Given the description of an element on the screen output the (x, y) to click on. 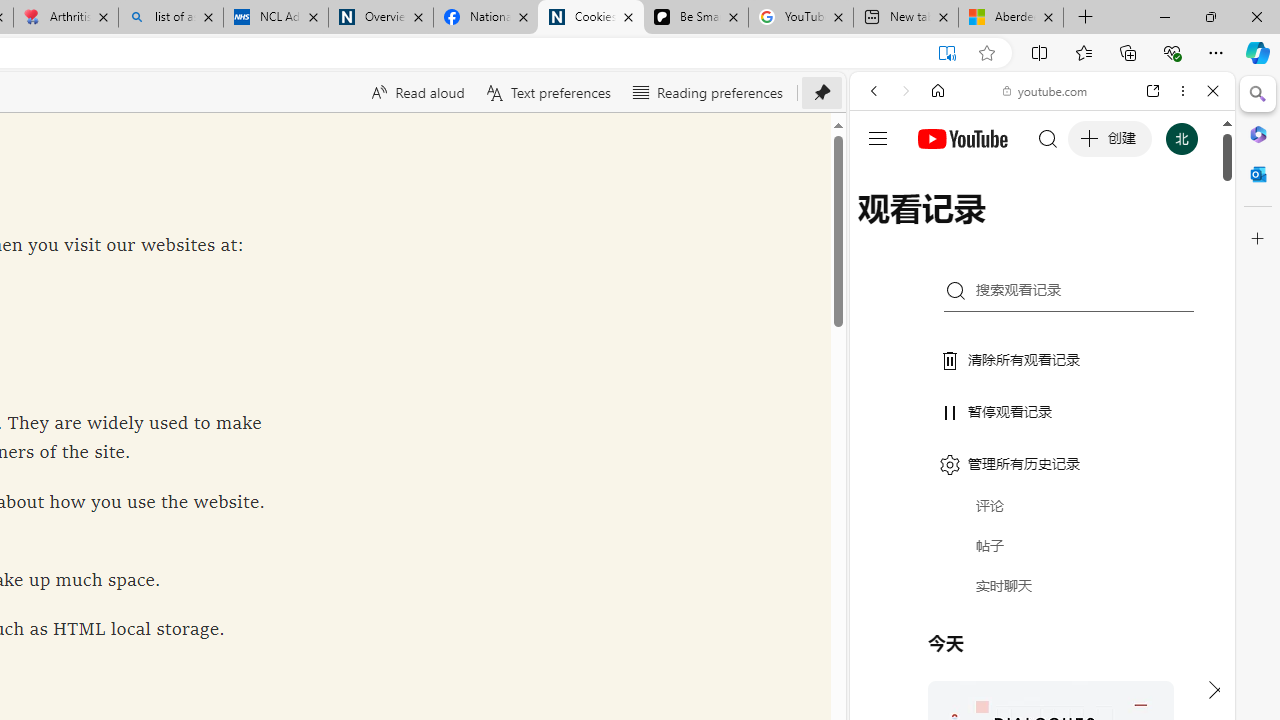
Text preferences (546, 92)
